Given the description of an element on the screen output the (x, y) to click on. 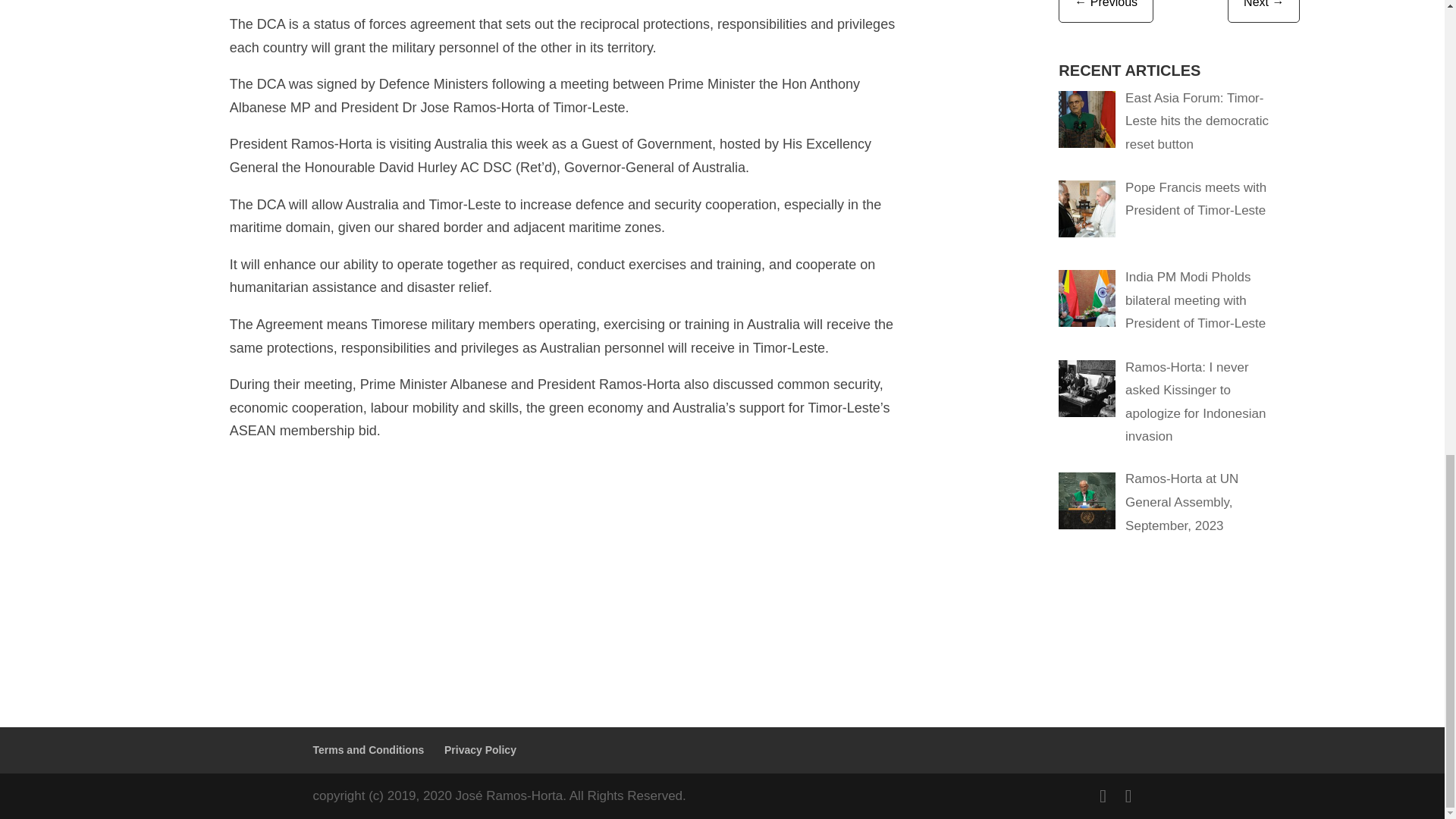
Terms and Conditions (368, 749)
Pope Francis meets with President of Timor-Leste (1195, 199)
Ramos-Horta at UN General Assembly, September, 2023 (1182, 501)
Privacy Policy (480, 749)
